Given the description of an element on the screen output the (x, y) to click on. 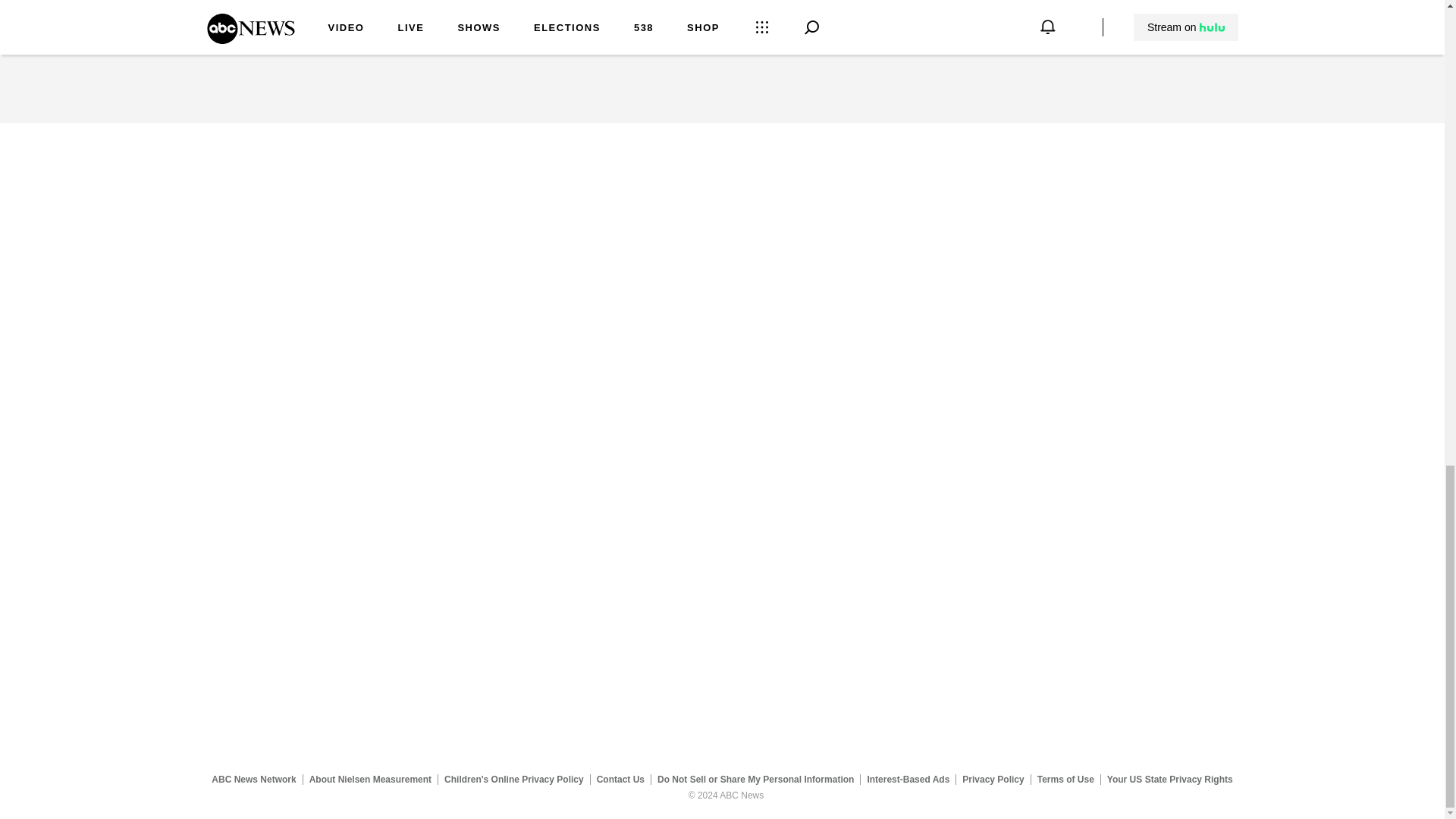
Terms of Use (1065, 778)
Interest-Based Ads (908, 778)
Contact Us (620, 778)
Privacy Policy (993, 778)
ABC News Network (253, 778)
Your US State Privacy Rights (1169, 778)
Do Not Sell or Share My Personal Information (755, 778)
About Nielsen Measurement (370, 778)
Children's Online Privacy Policy (514, 778)
